Given the description of an element on the screen output the (x, y) to click on. 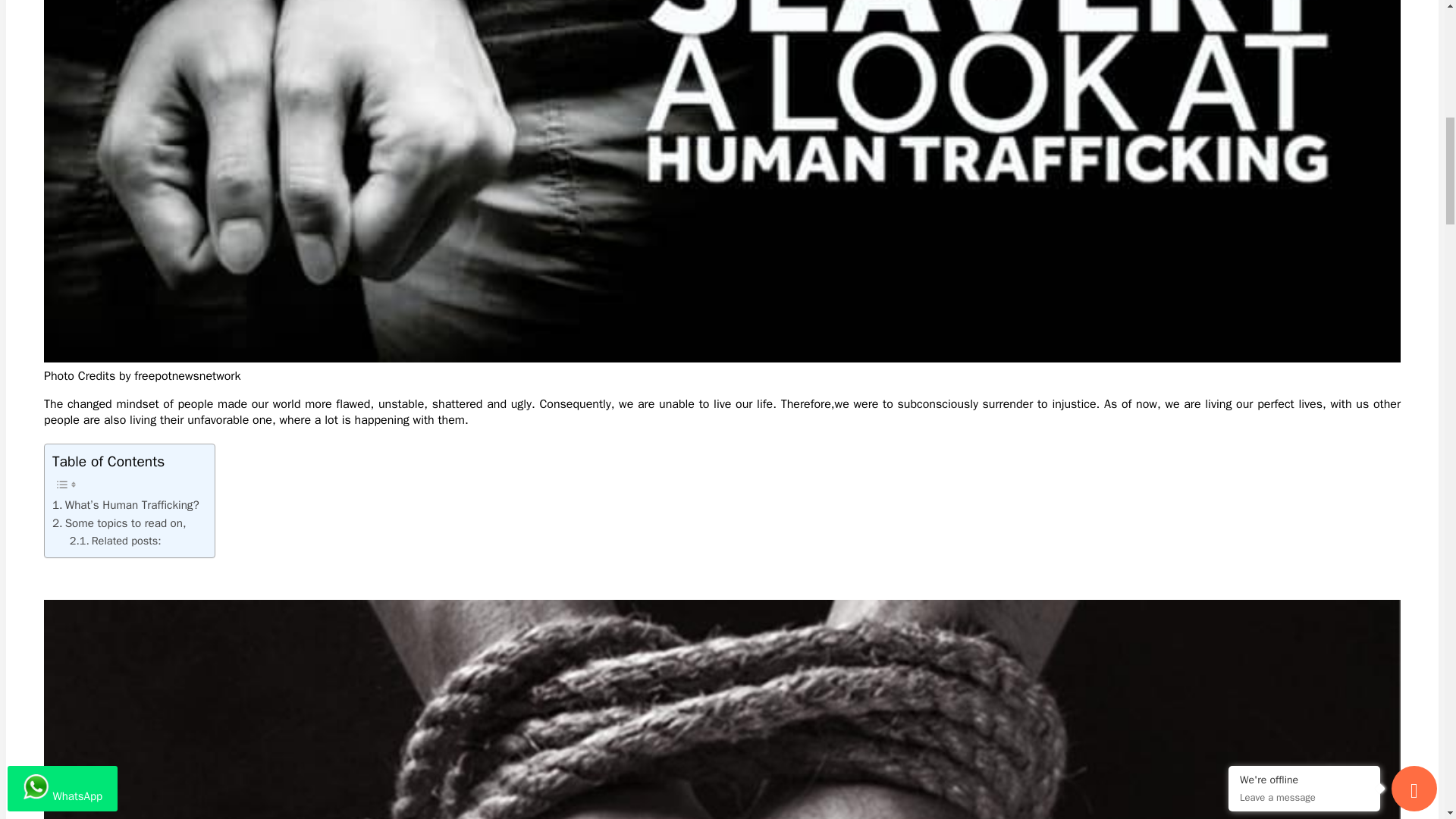
Related posts: (115, 540)
Related posts: (115, 540)
Some topics to read on, (119, 523)
Some topics to read on, (119, 523)
